Given the description of an element on the screen output the (x, y) to click on. 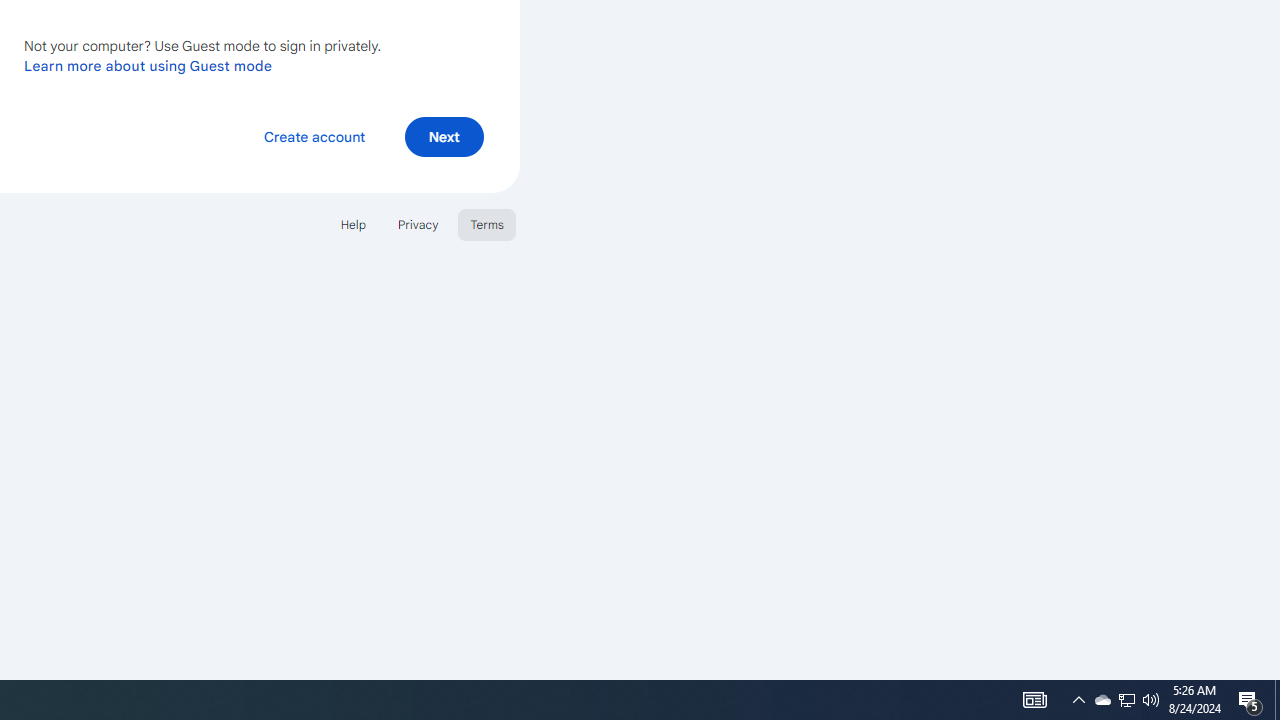
Create account (314, 135)
Terms (486, 224)
Next (443, 135)
Learn more about using Guest mode (148, 65)
Help (352, 224)
Privacy (417, 224)
